Given the description of an element on the screen output the (x, y) to click on. 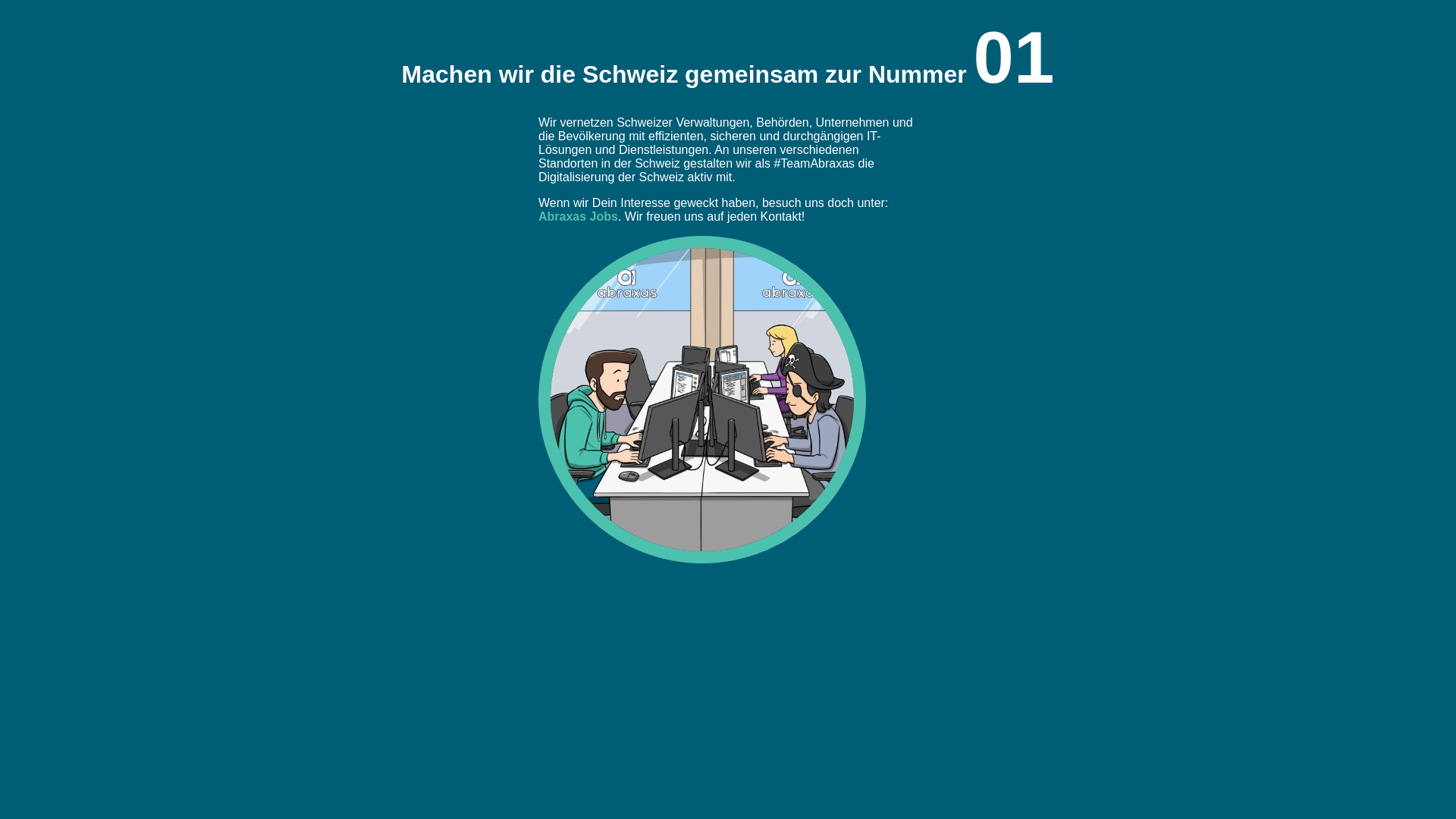
Abraxas Jobs Element type: text (578, 216)
